Given the description of an element on the screen output the (x, y) to click on. 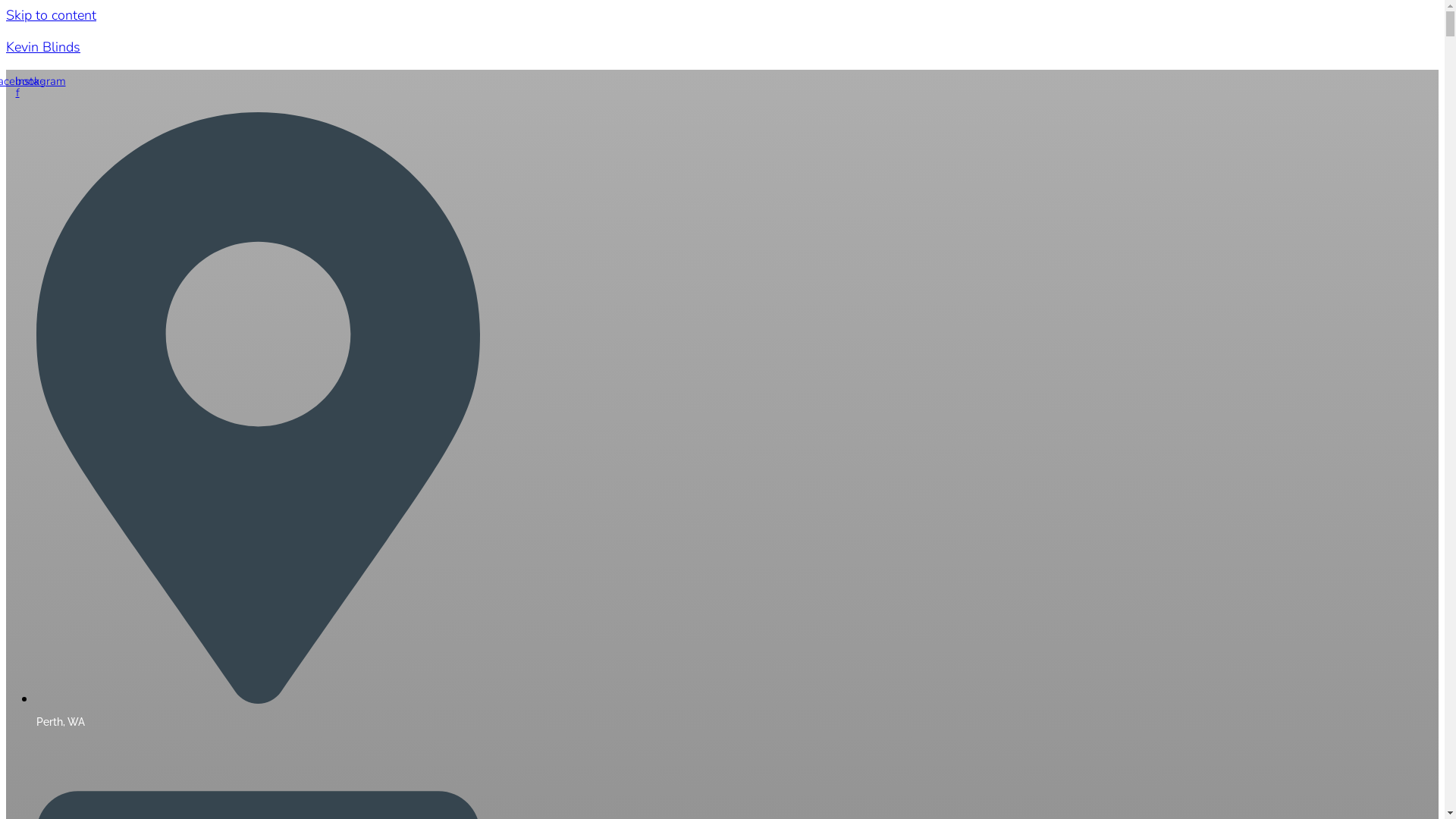
Skip to content Element type: text (51, 15)
Kevin Blinds Element type: text (43, 46)
Facebook-f Element type: text (17, 86)
Instagram Element type: text (39, 80)
